Given the description of an element on the screen output the (x, y) to click on. 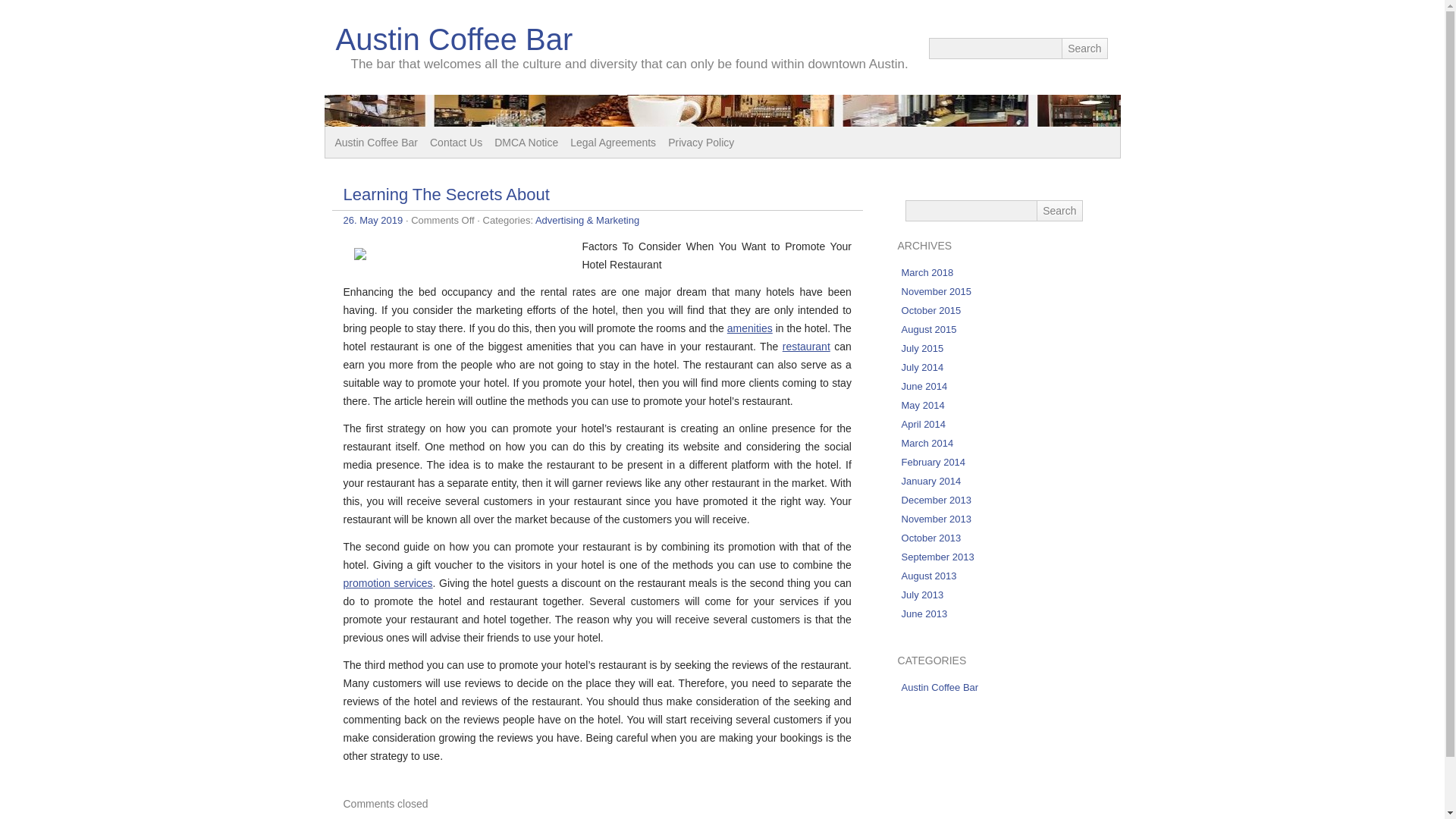
November 2015 (936, 291)
Search (1083, 47)
Learning The Secrets About (445, 194)
January 2014 (930, 480)
July 2014 (922, 367)
restaurant (806, 346)
Austin Coffee Bar (939, 686)
promotion services (387, 582)
November 2013 (936, 518)
August 2013 (928, 575)
26. May 2019 (372, 220)
August 2015 (928, 328)
December 2013 (936, 500)
Legal Agreements (613, 142)
October 2015 (930, 310)
